Given the description of an element on the screen output the (x, y) to click on. 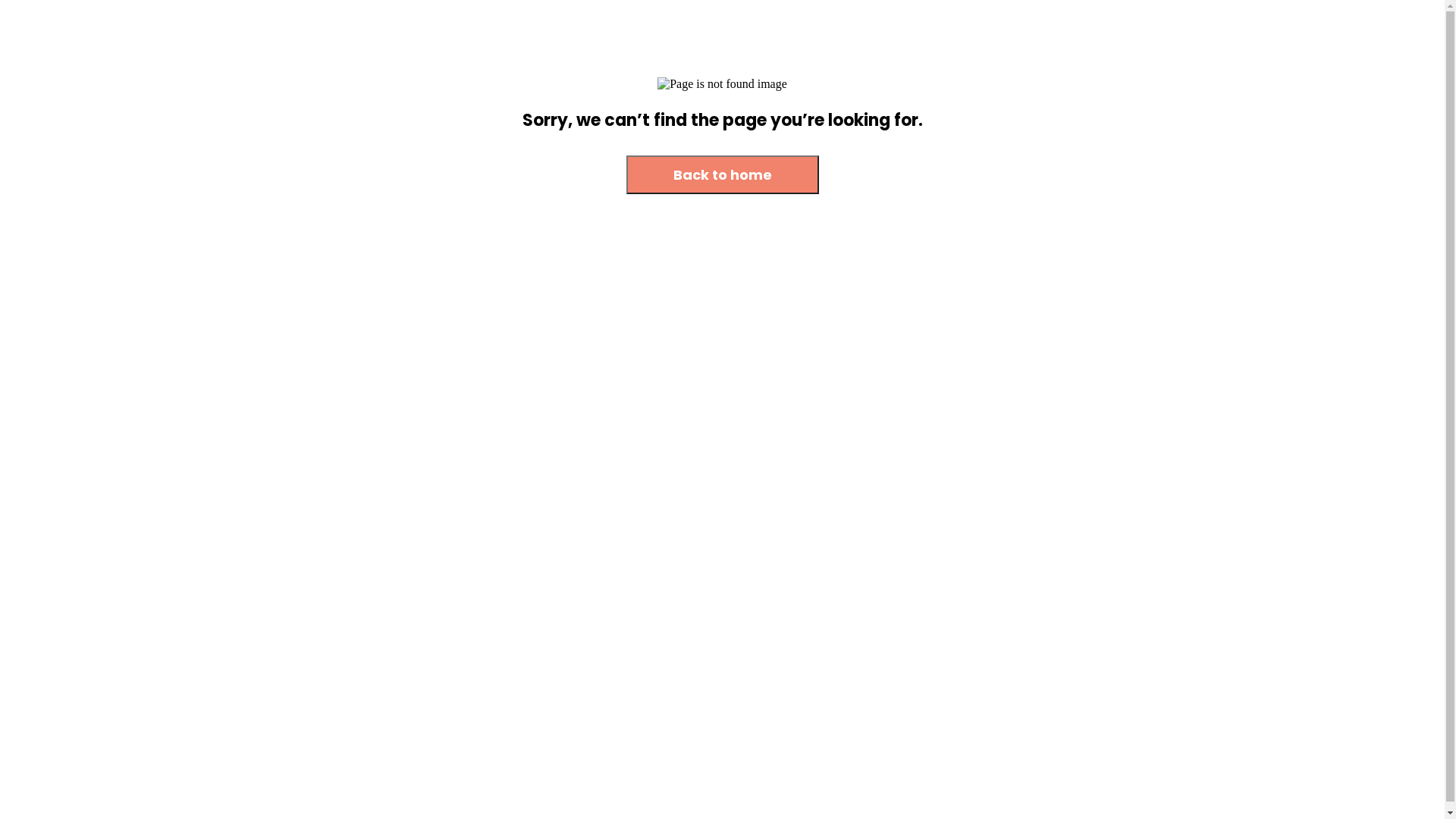
Back to home Element type: text (722, 174)
Back to home Element type: text (722, 175)
